Given the description of an element on the screen output the (x, y) to click on. 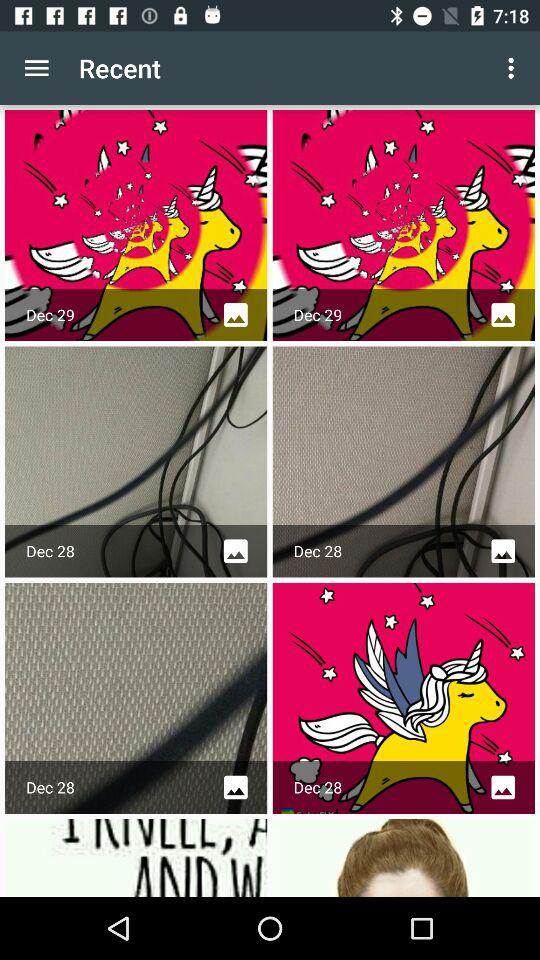
choose icon to the left of recent app (36, 68)
